Given the description of an element on the screen output the (x, y) to click on. 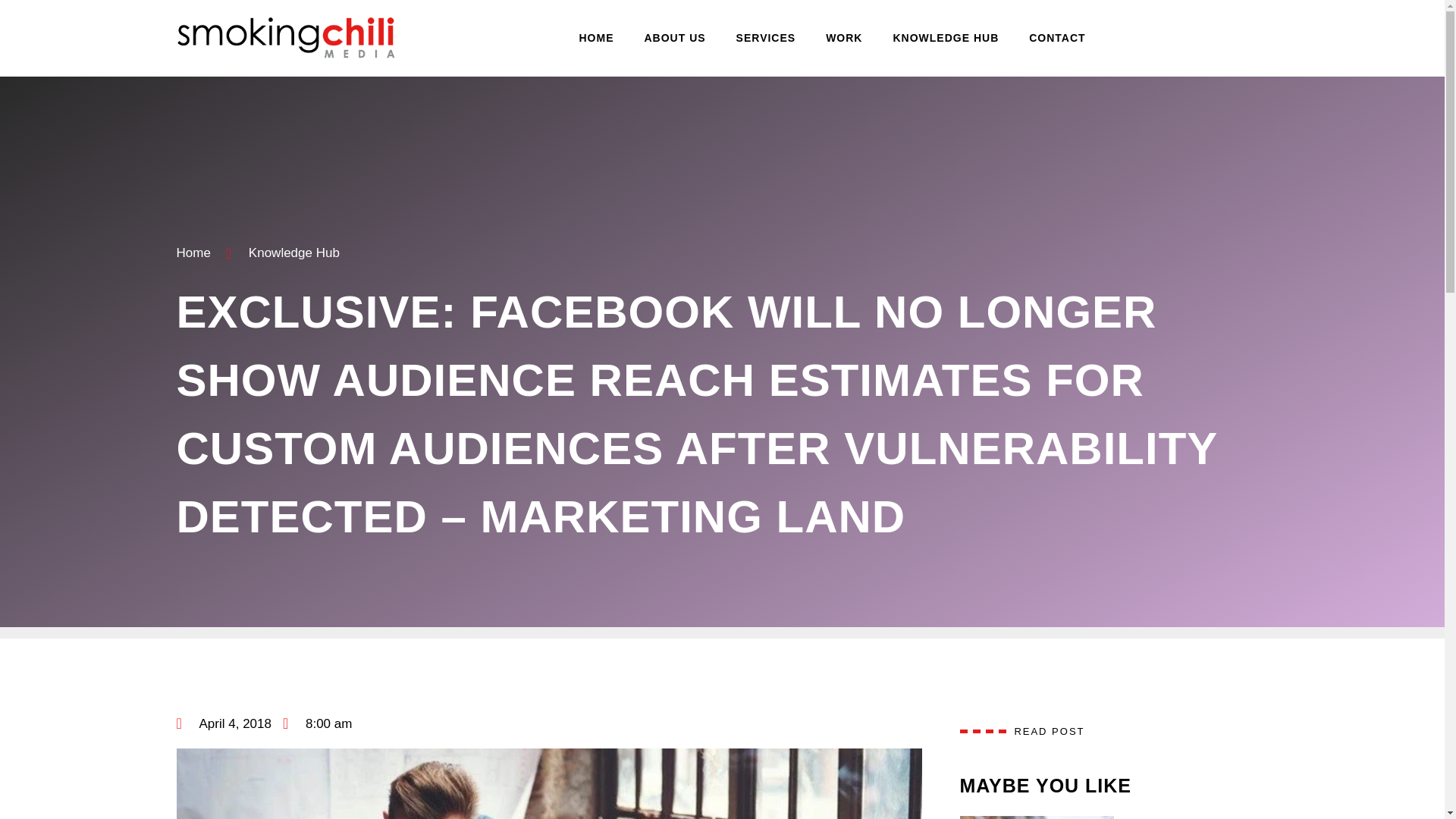
April 4, 2018 (223, 723)
Home (192, 252)
SERVICES (765, 38)
KNOWLEDGE HUB (945, 38)
WORK (843, 38)
ABOUT US (674, 38)
HOME (595, 38)
CONTACT (1056, 38)
